Given the description of an element on the screen output the (x, y) to click on. 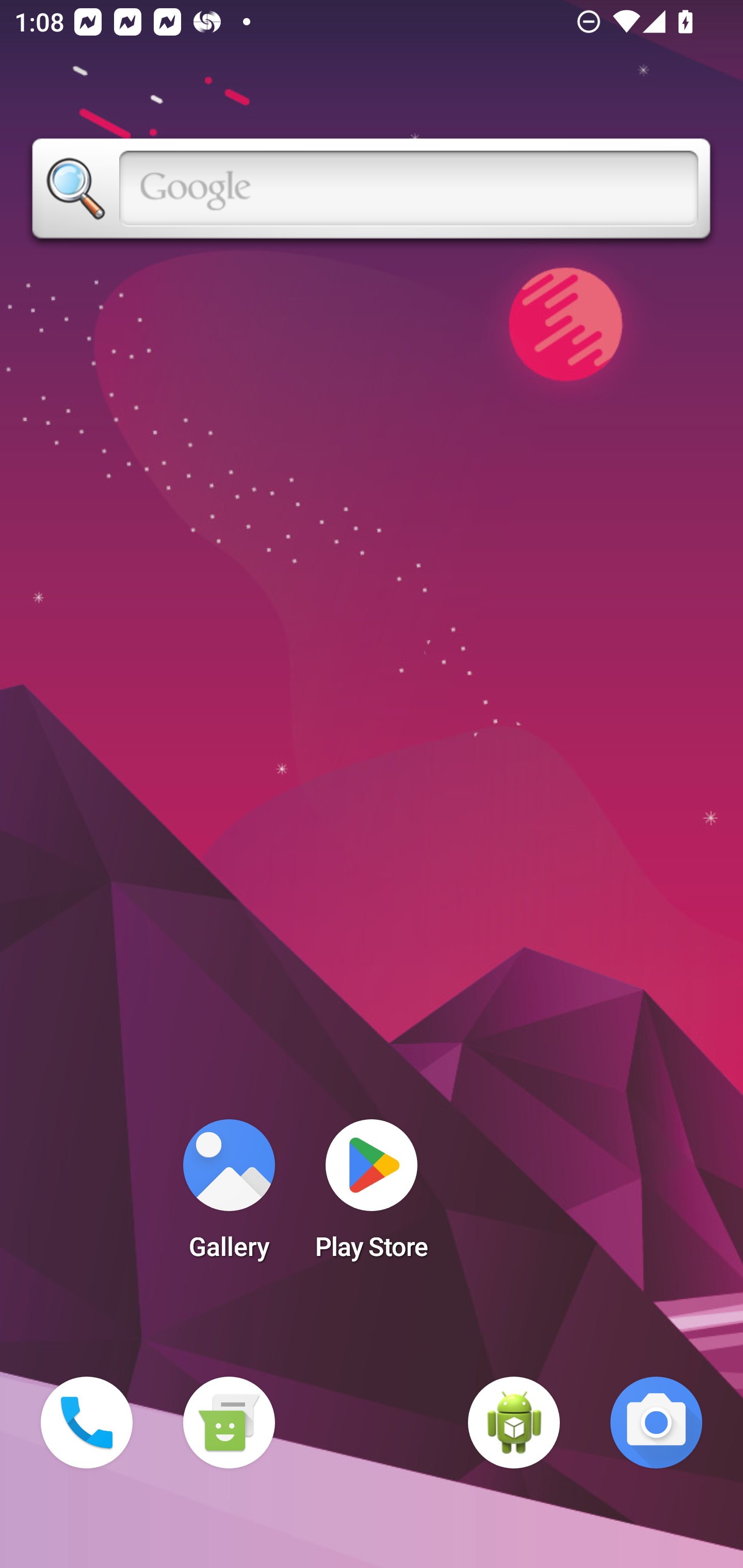
Gallery (228, 1195)
Play Store (371, 1195)
Phone (86, 1422)
Messaging (228, 1422)
WebView Browser Tester (513, 1422)
Camera (656, 1422)
